Given the description of an element on the screen output the (x, y) to click on. 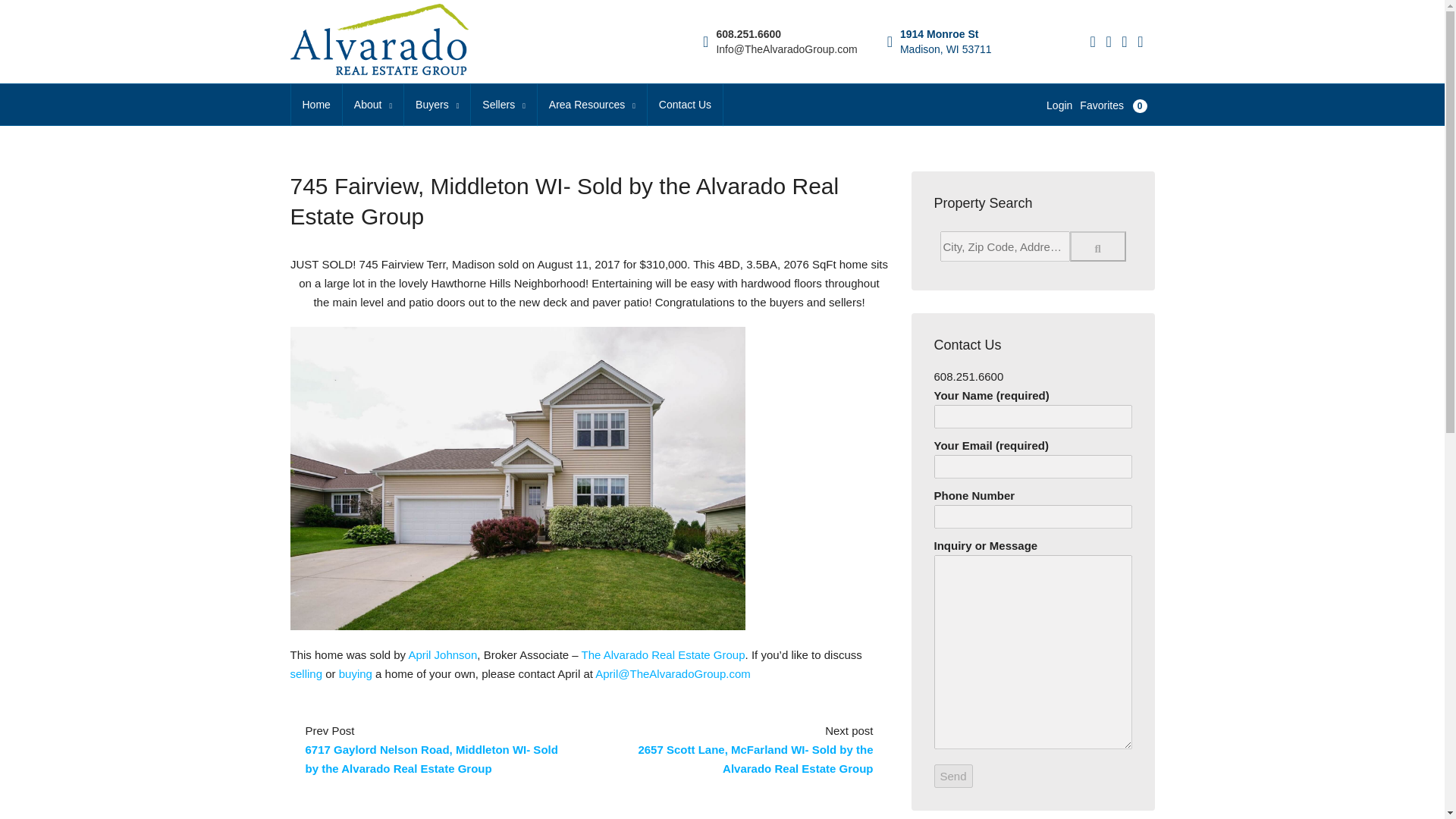
Send (953, 775)
The Alvarado Group (662, 654)
608.251.6600 (748, 33)
About (372, 105)
Home (316, 104)
